Given the description of an element on the screen output the (x, y) to click on. 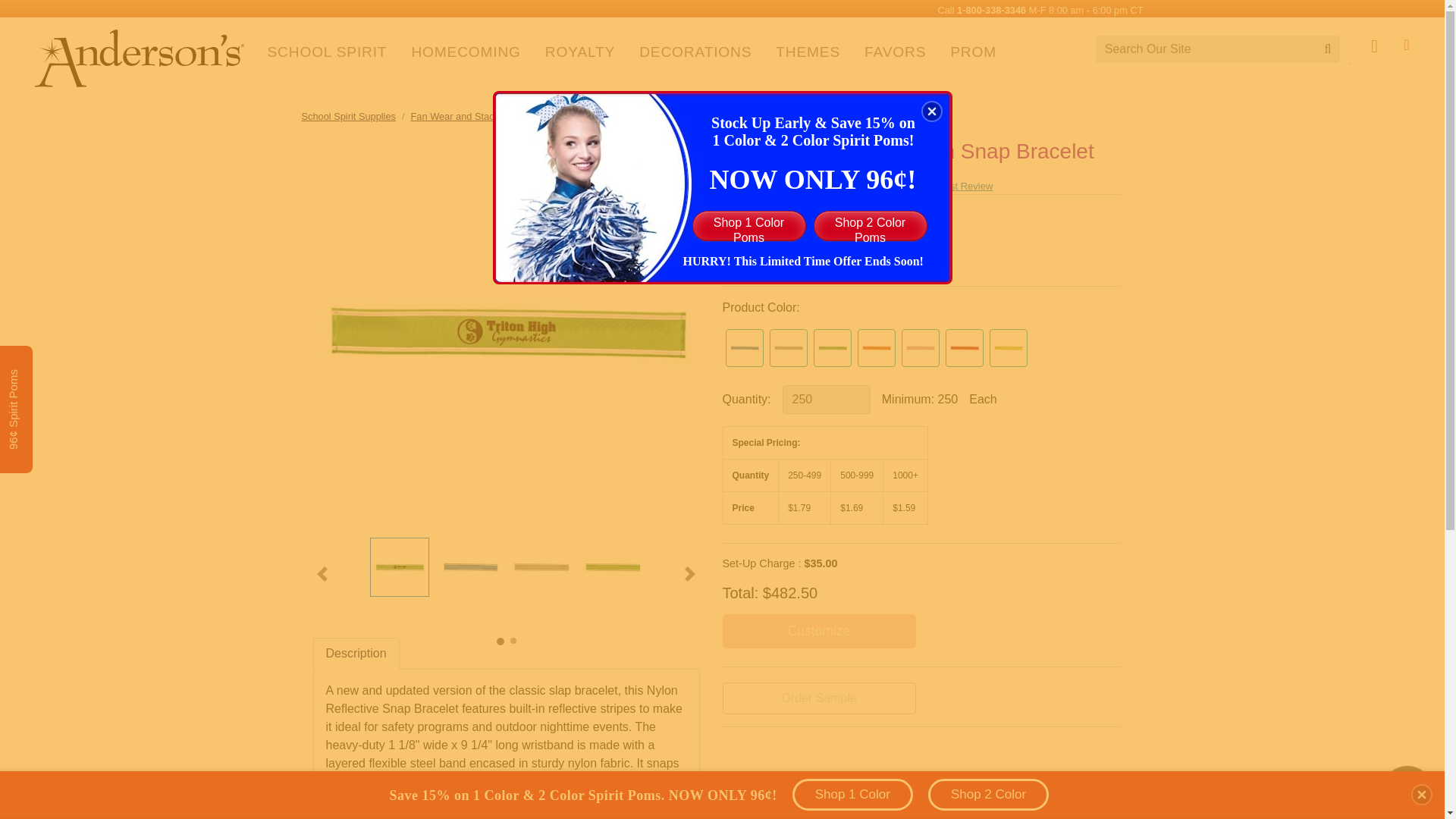
Nylon Reflective Custom Snap Bracelet (612, 567)
Nylon Reflective Custom Snap Bracelet (399, 567)
250 (826, 399)
Close (930, 111)
Nylon Reflective Custom Snap Bracelet (470, 567)
Nylon Reflective Custom Snap Bracelet (541, 567)
Close (1421, 794)
